Given the description of an element on the screen output the (x, y) to click on. 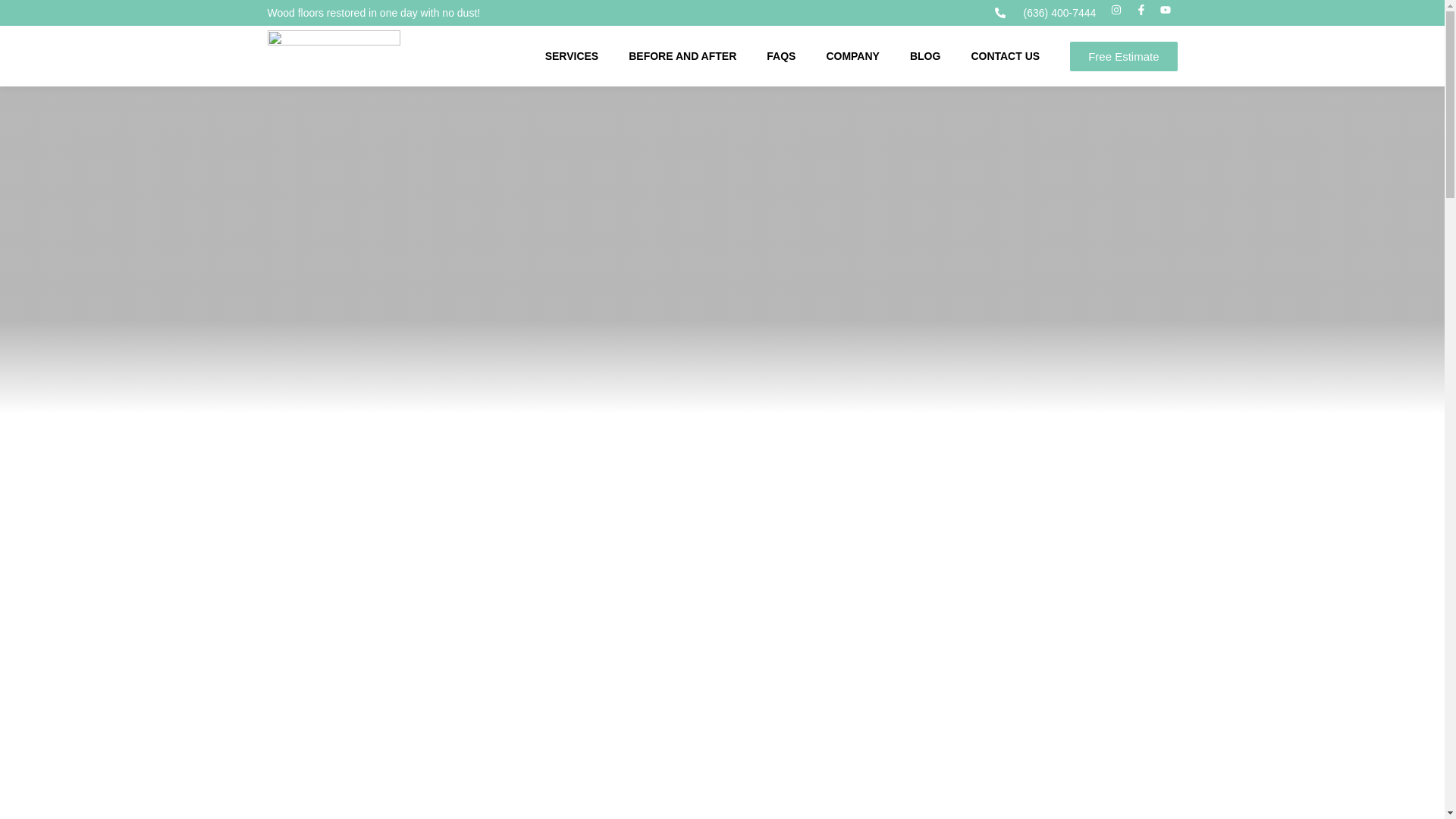
BEFORE AND AFTER (682, 55)
Free Estimate (1123, 55)
CONTACT US (1005, 55)
